Given the description of an element on the screen output the (x, y) to click on. 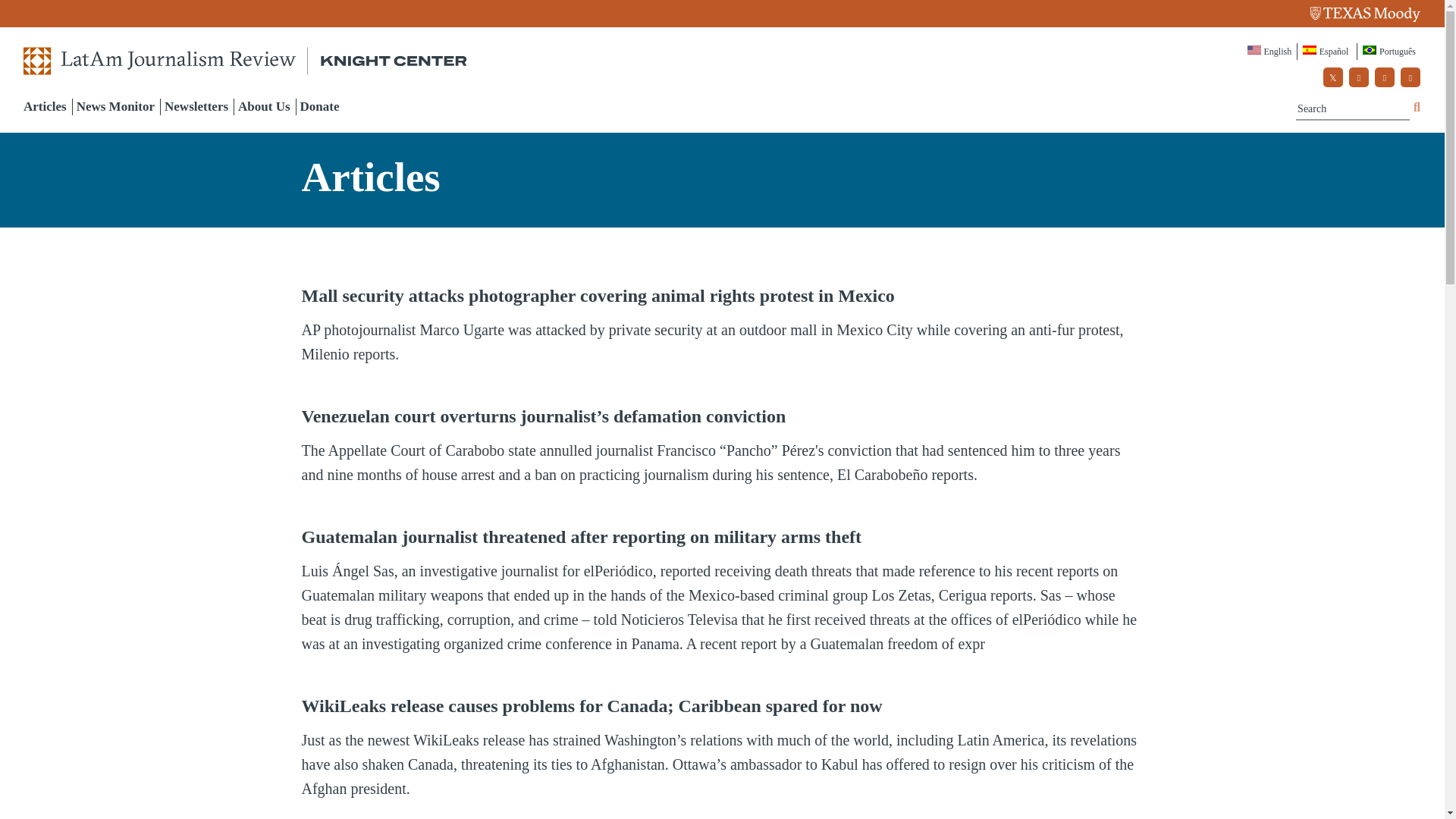
facebook (1358, 76)
English (1270, 51)
About Us (263, 106)
linkedin (1410, 76)
twitter (1332, 76)
Newsletters (196, 106)
English (1270, 51)
Articles (44, 106)
News Monitor (115, 106)
youtube (1384, 76)
Donate (319, 106)
